Given the description of an element on the screen output the (x, y) to click on. 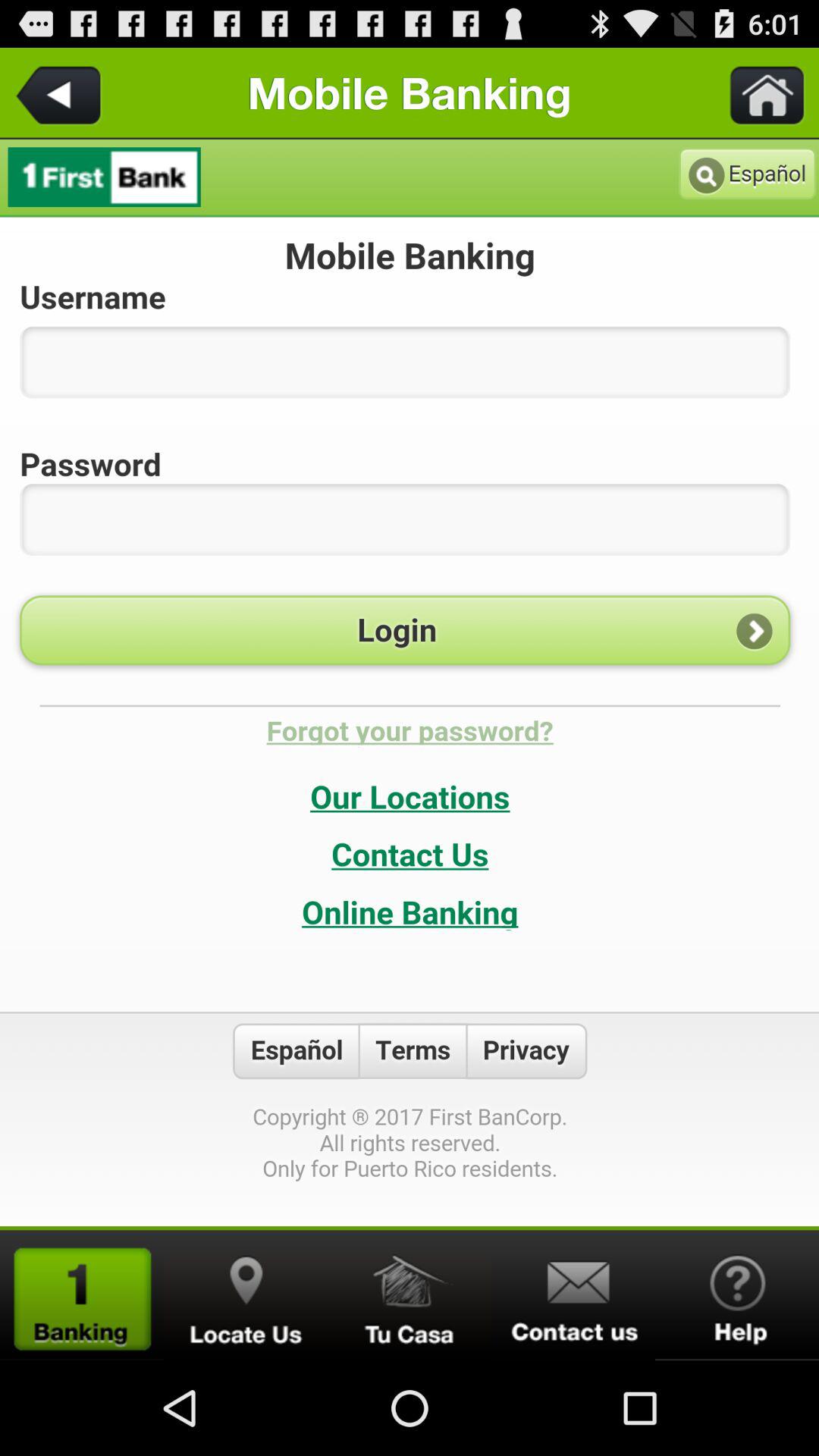
go to homepage (81, 1295)
